Given the description of an element on the screen output the (x, y) to click on. 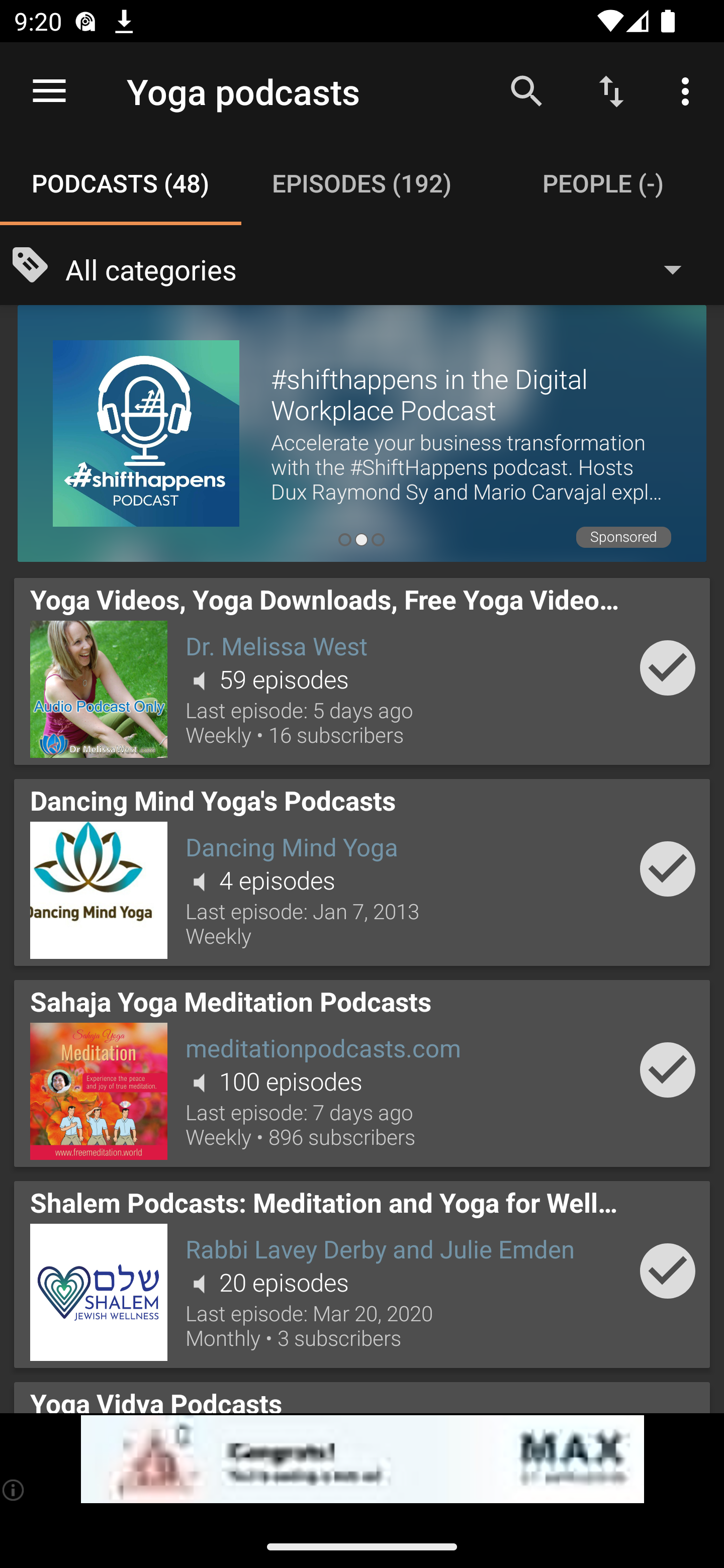
Open navigation sidebar (49, 91)
Search (526, 90)
Sort (611, 90)
More options (688, 90)
Episodes (192) EPISODES (192) (361, 183)
People (-) PEOPLE (-) (603, 183)
All categories (383, 268)
Add (667, 667)
Add (667, 868)
Add (667, 1069)
Add (667, 1271)
app-monetization (362, 1459)
(i) (14, 1489)
